Given the description of an element on the screen output the (x, y) to click on. 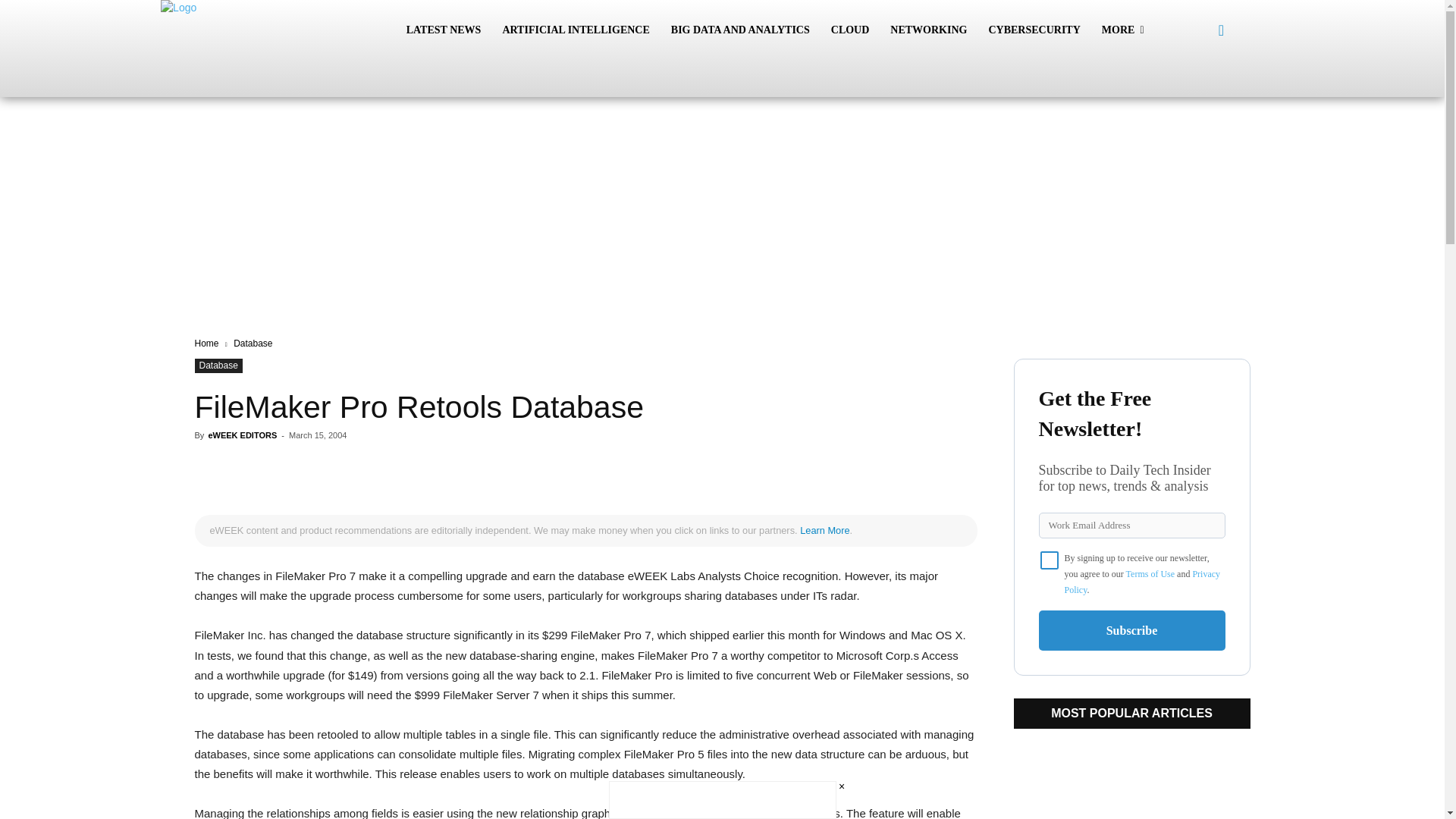
NETWORKING (927, 30)
LATEST NEWS (444, 30)
CLOUD (850, 30)
BIG DATA AND ANALYTICS (741, 30)
on (1049, 560)
CYBERSECURITY (1033, 30)
ARTIFICIAL INTELLIGENCE (575, 30)
